Given the description of an element on the screen output the (x, y) to click on. 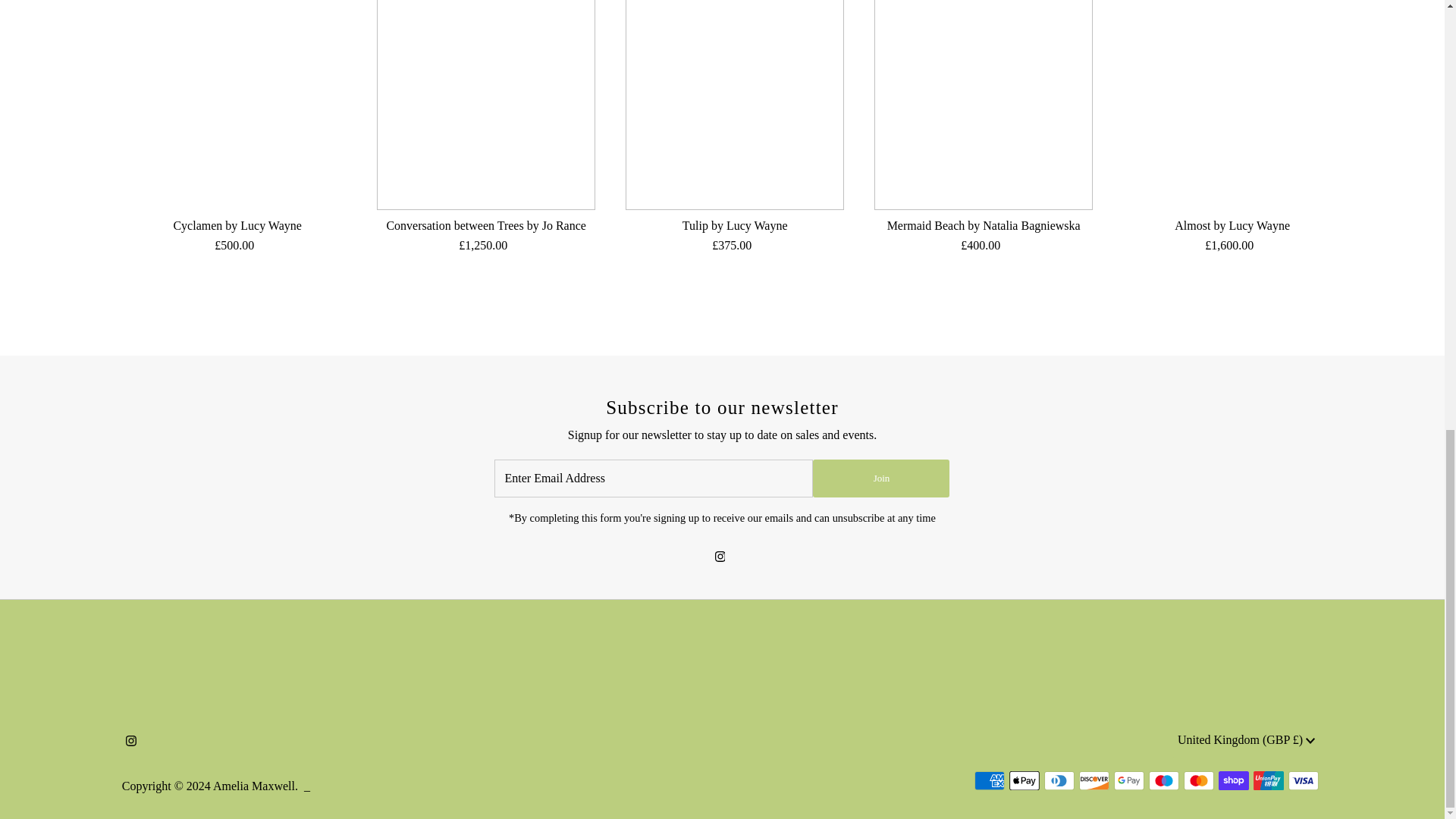
Mastercard (1198, 780)
Diners Club (1058, 780)
American Express (989, 780)
Google Pay (1128, 780)
Maestro (1163, 780)
Apple Pay (1024, 780)
Discover (1093, 780)
